Given the description of an element on the screen output the (x, y) to click on. 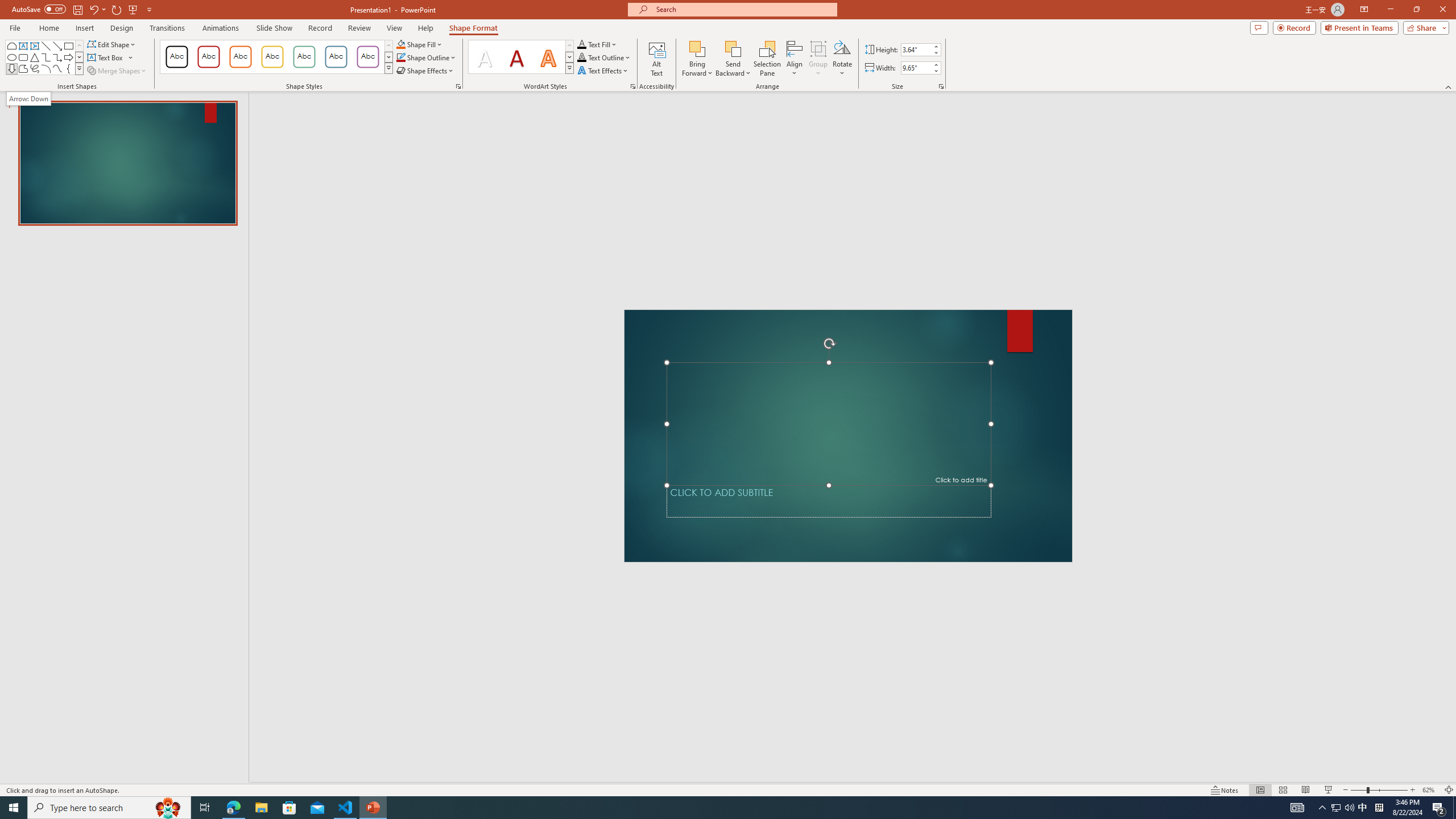
Selection Pane... (767, 58)
Line (46, 45)
Send Backward (733, 48)
Less (935, 70)
Connector: Elbow Arrow (57, 57)
Vertical Text Box (34, 45)
